Given the description of an element on the screen output the (x, y) to click on. 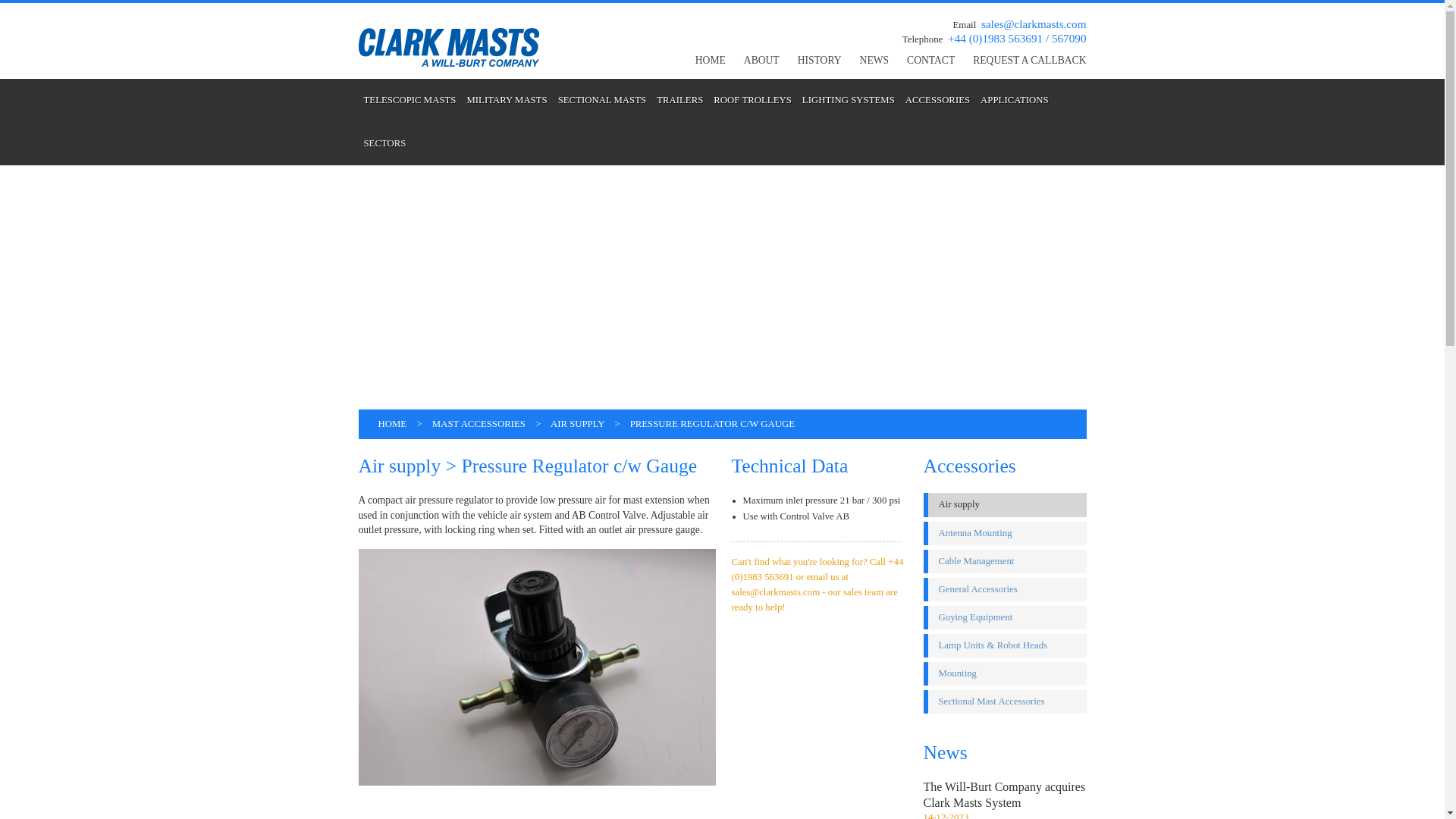
HOME (710, 60)
CONTACT (931, 60)
MILITARY MASTS (506, 100)
HISTORY (819, 60)
REQUEST A CALLBACK (1029, 60)
TRAILERS (678, 100)
TELESCOPIC MASTS (409, 100)
NEWS (874, 60)
SECTIONAL MASTS (601, 100)
ABOUT (761, 60)
